Given the description of an element on the screen output the (x, y) to click on. 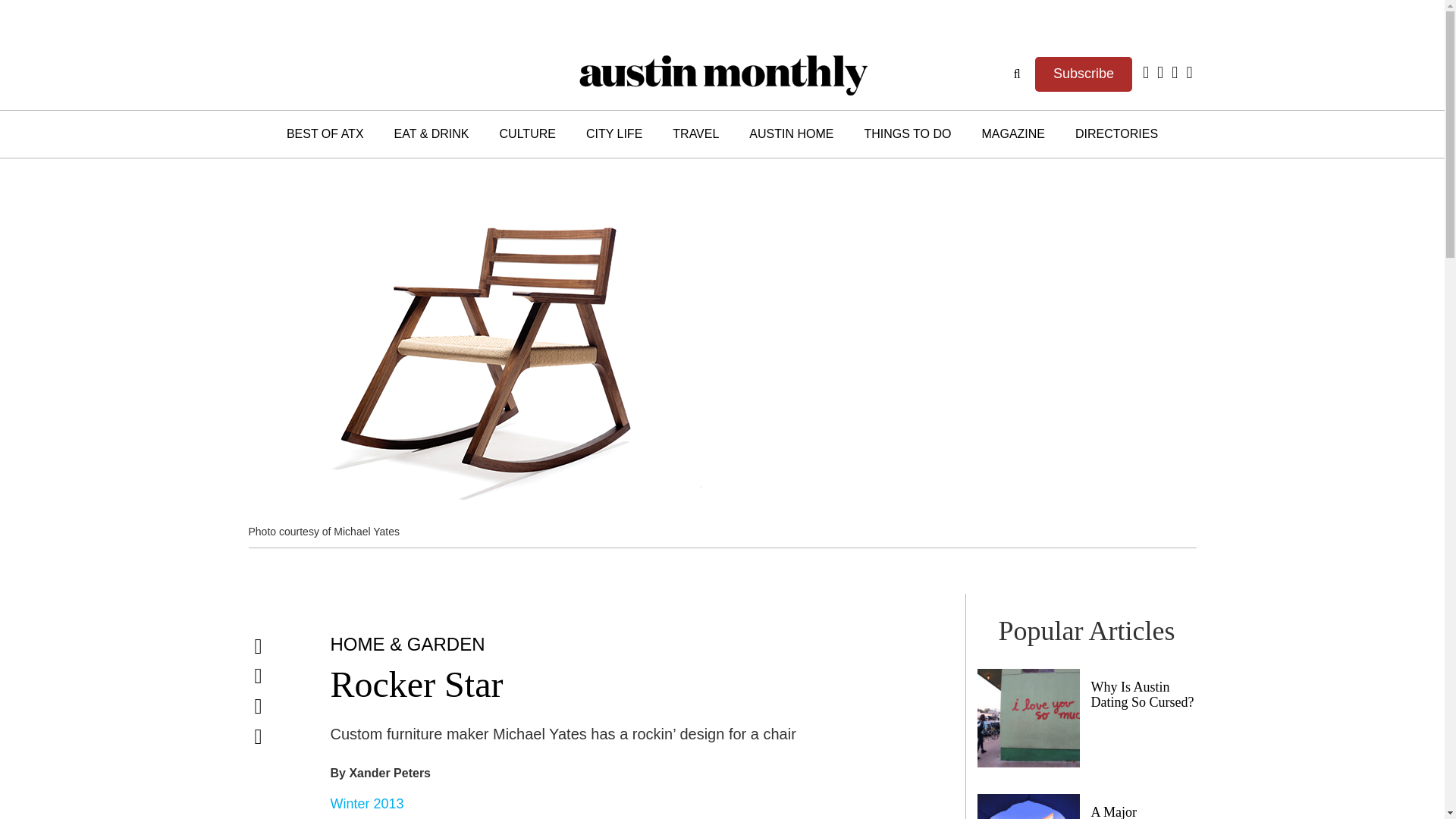
THINGS TO DO (907, 134)
CITY LIFE (614, 134)
Winter 2013 (367, 803)
Austin Monthly Magazine (721, 73)
BEST OF ATX (324, 134)
CULTURE (527, 134)
MAGAZINE (1012, 134)
Rocker Star (416, 684)
DIRECTORIES (1116, 134)
AUSTIN HOME (790, 134)
